Given the description of an element on the screen output the (x, y) to click on. 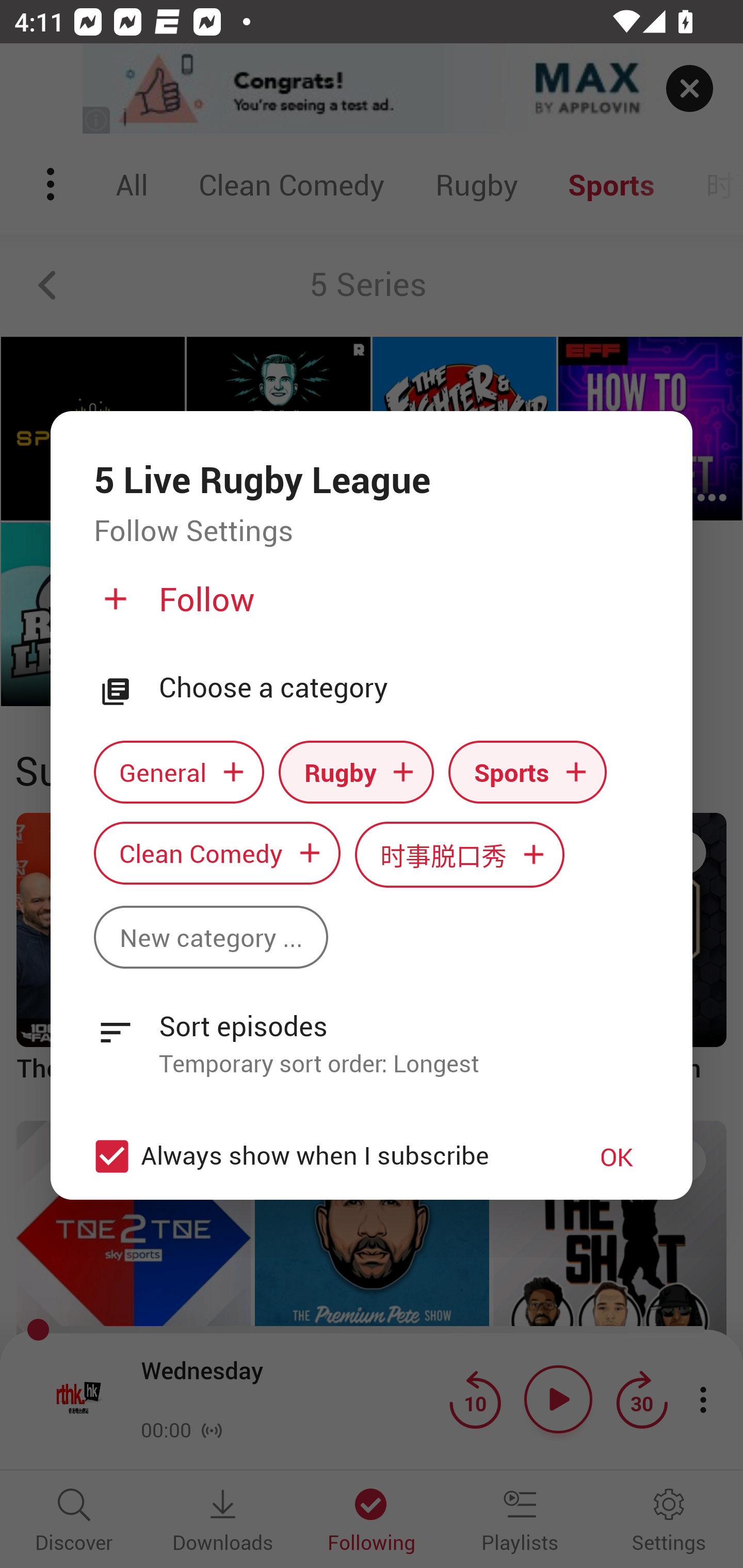
Follow (369, 606)
Choose a category (404, 688)
General (178, 771)
Rugby (355, 771)
Sports (527, 771)
Clean Comedy (216, 852)
时事脱口秀 (459, 854)
New category ... (210, 937)
Sort episodes Temporary sort order: Longest (371, 1033)
OK (616, 1156)
Always show when I subscribe (320, 1156)
